Given the description of an element on the screen output the (x, y) to click on. 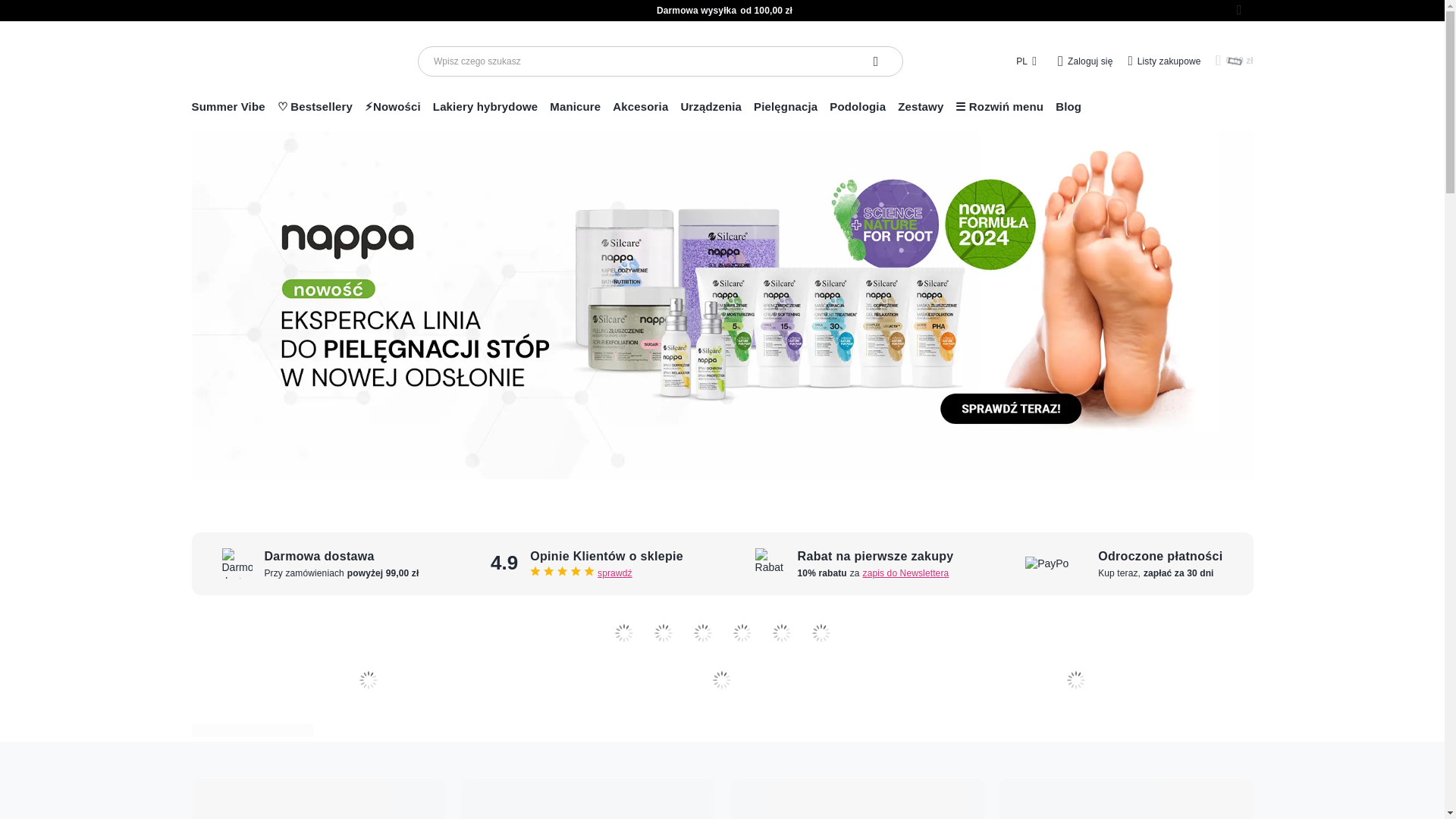
Listy zakupowe (1162, 60)
Lakiery hybrydowe (484, 109)
Lakiery hybrydowe (484, 109)
Summer Vibe (227, 109)
Summer Vibe (227, 109)
